Given the description of an element on the screen output the (x, y) to click on. 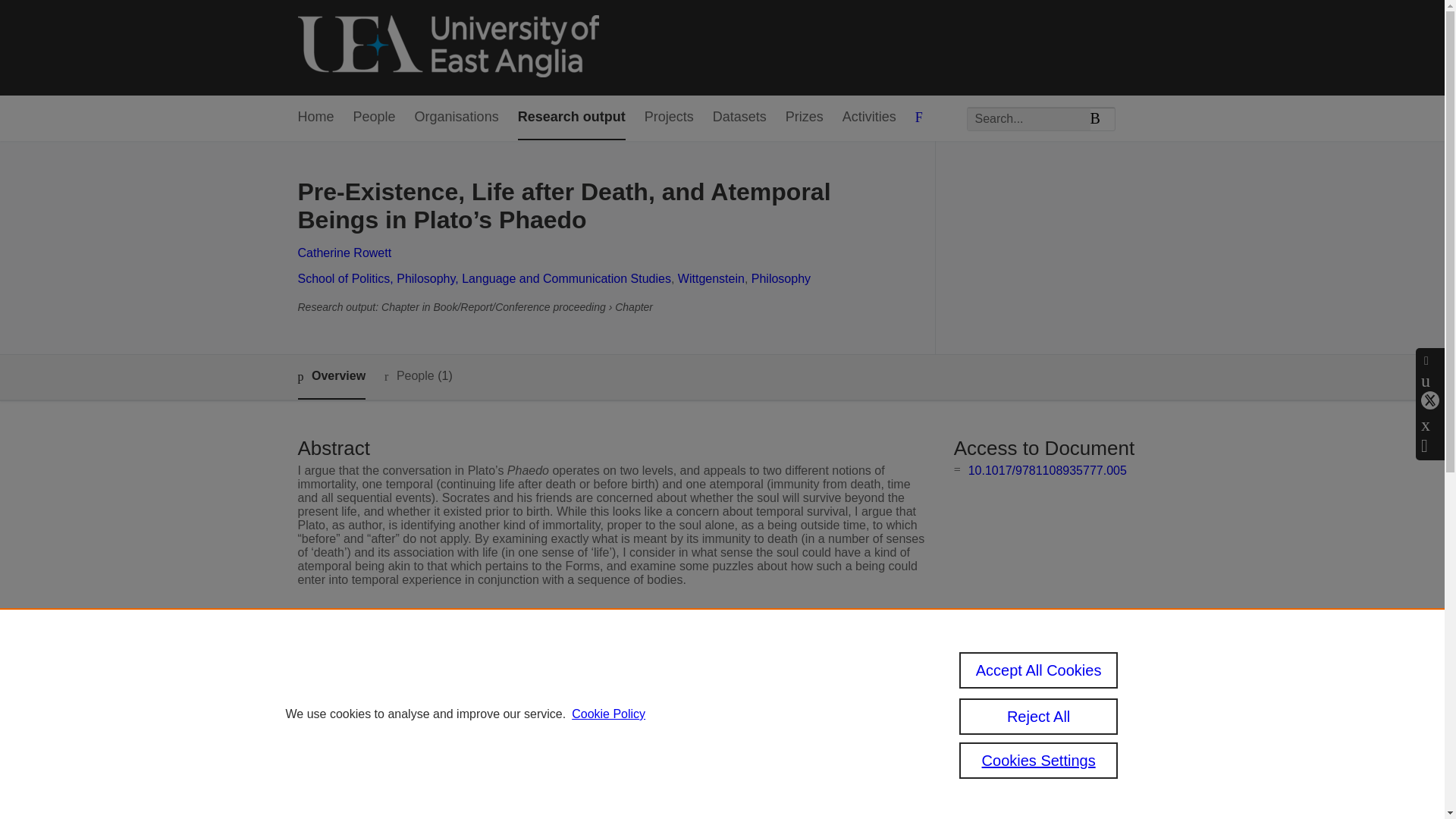
Projects (669, 117)
Cambridge University Press (584, 687)
Organisations (456, 117)
Datasets (740, 117)
Research output (572, 117)
Catherine Rowett (344, 252)
Philosophy (780, 278)
Activities (869, 117)
Overview (331, 376)
People (374, 117)
Wittgenstein (711, 278)
University of East Anglia Home (447, 47)
